Given the description of an element on the screen output the (x, y) to click on. 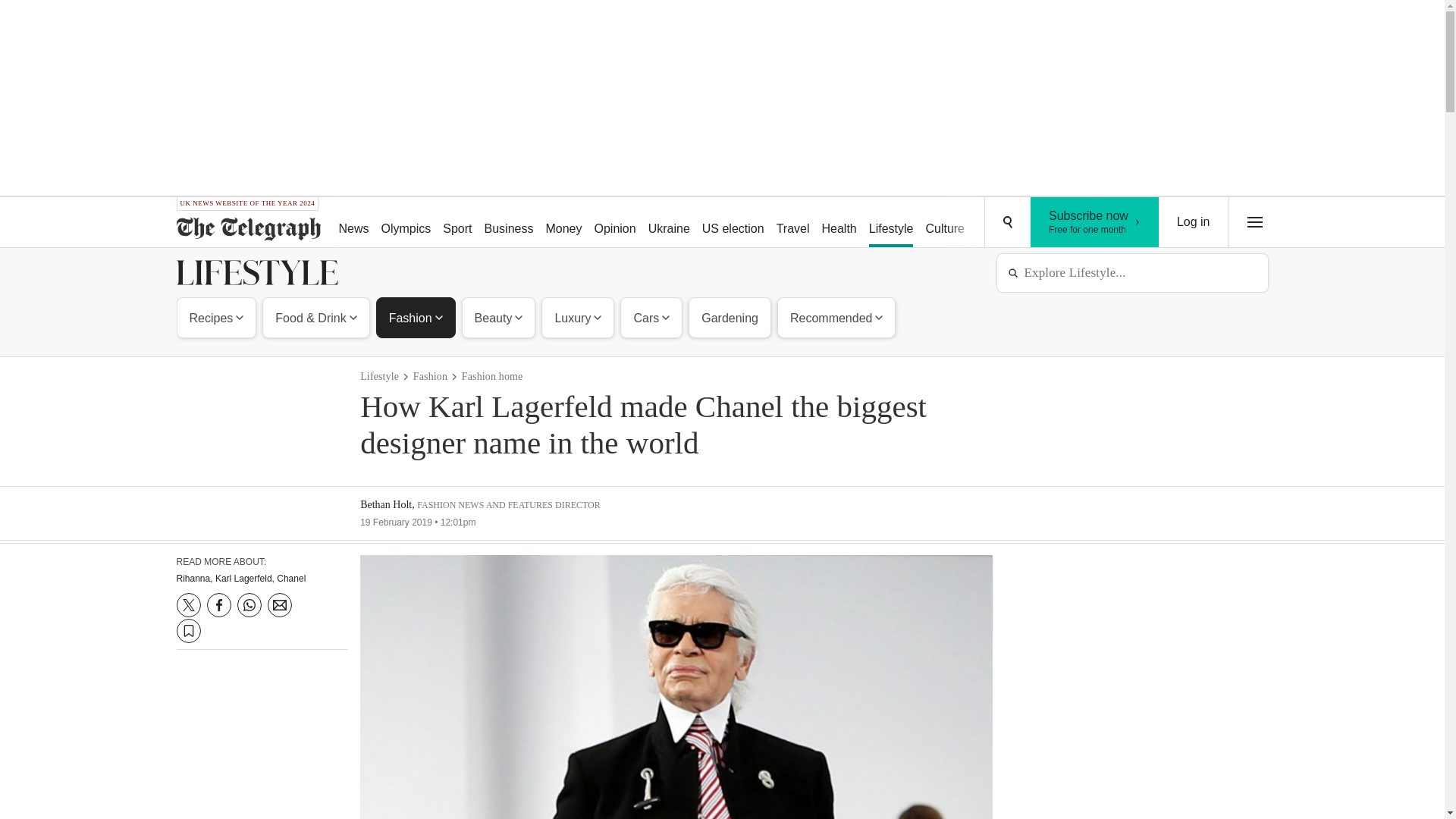
Health (838, 223)
Travel (792, 223)
Money (563, 223)
Opinion (615, 223)
US election (732, 223)
Log in (1193, 222)
Recipes (216, 317)
Puzzles (1094, 222)
Lifestyle (998, 223)
